Given the description of an element on the screen output the (x, y) to click on. 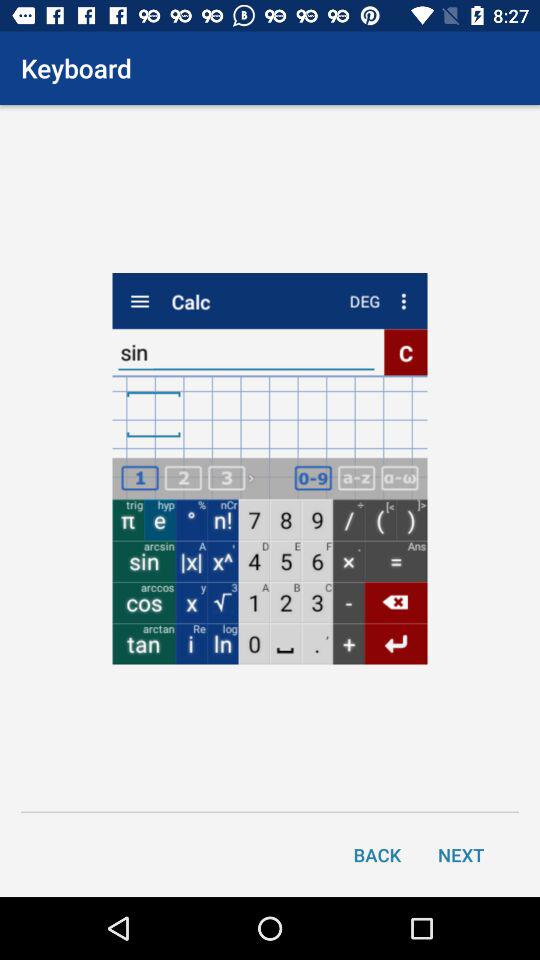
choose icon to the right of back item (461, 854)
